Given the description of an element on the screen output the (x, y) to click on. 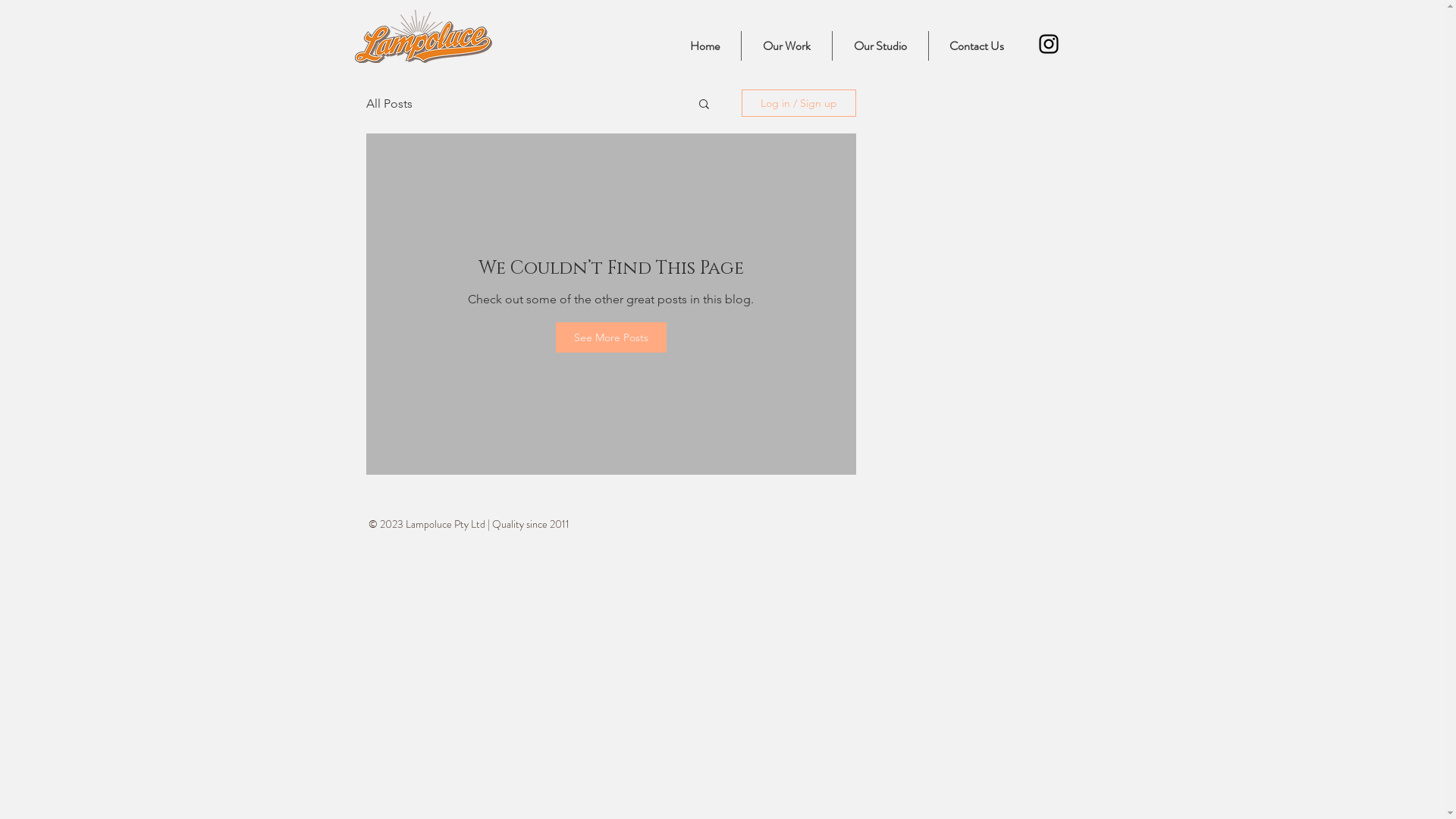
Our Studio Element type: text (879, 45)
Log in / Sign up Element type: text (798, 102)
Contact Us Element type: text (976, 45)
See More Posts Element type: text (610, 337)
Our Work Element type: text (785, 45)
Home Element type: text (704, 45)
All Posts Element type: text (388, 102)
